Given the description of an element on the screen output the (x, y) to click on. 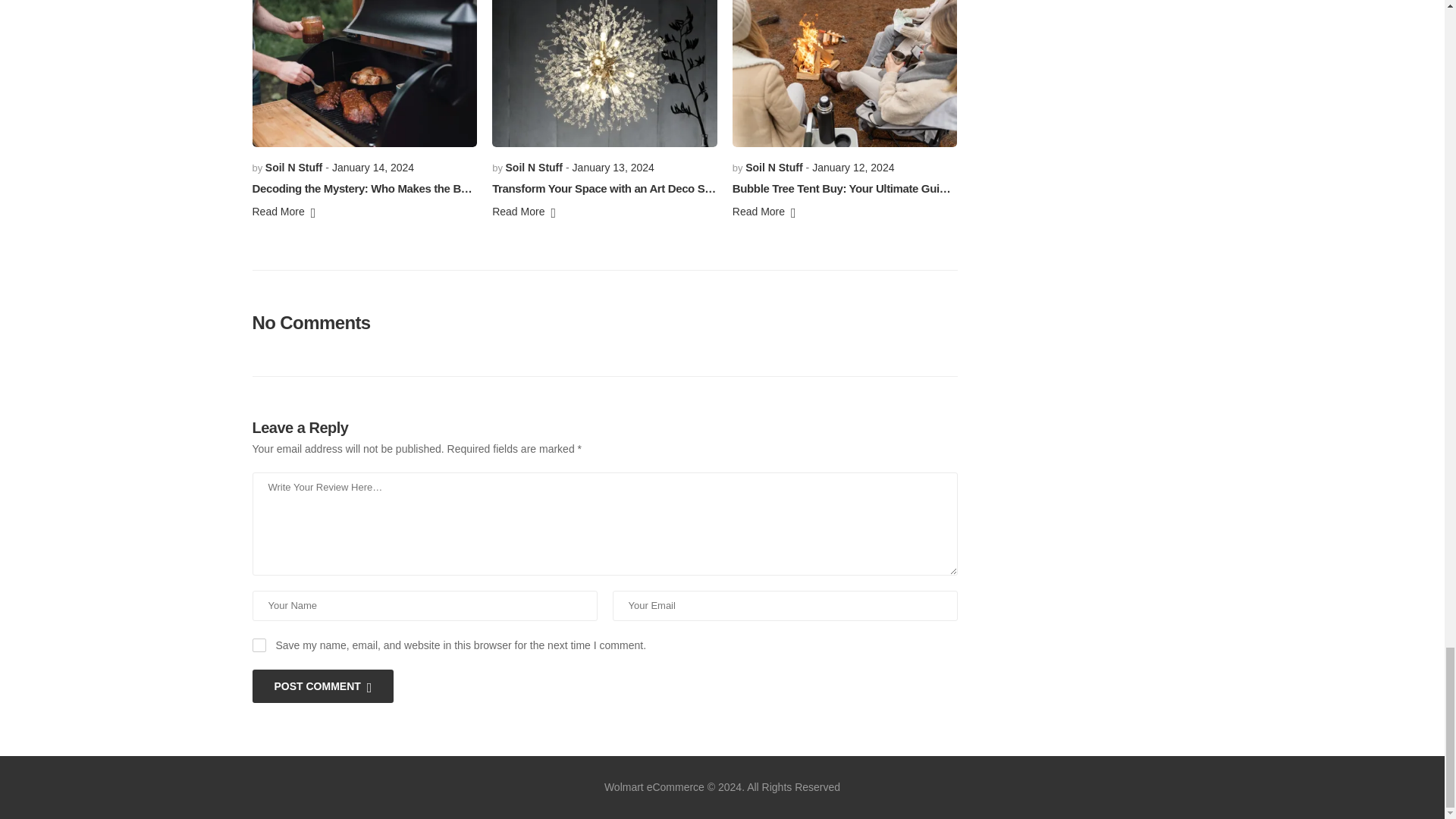
Read More (524, 213)
Posts by Soil N Stuff (773, 167)
yes (257, 644)
Posts by Soil N Stuff (292, 167)
Read More (283, 213)
Read More (764, 213)
Posts by Soil N Stuff (533, 167)
